Given the description of an element on the screen output the (x, y) to click on. 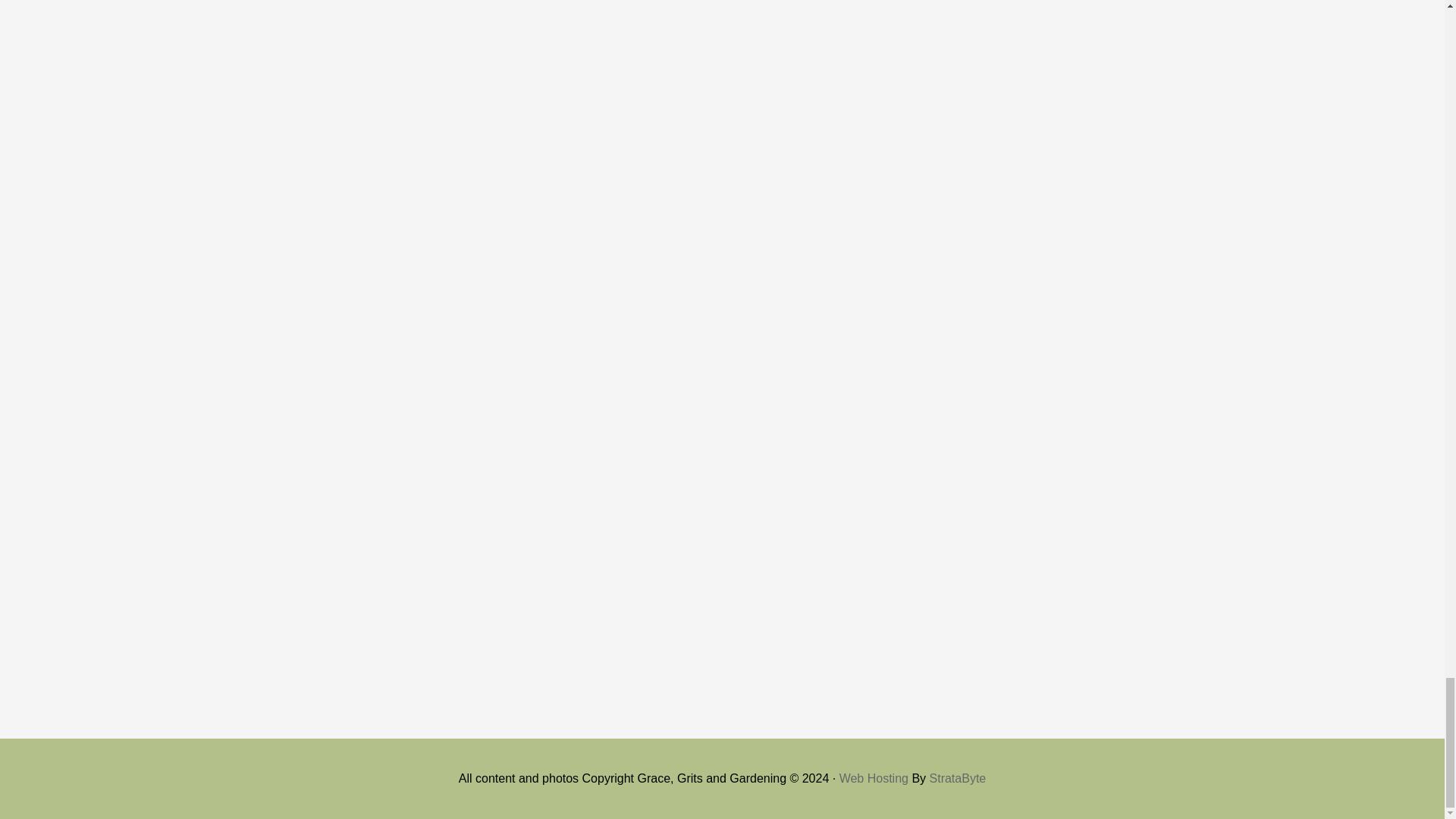
StrataByte (958, 778)
Web Hosting (874, 778)
